Given the description of an element on the screen output the (x, y) to click on. 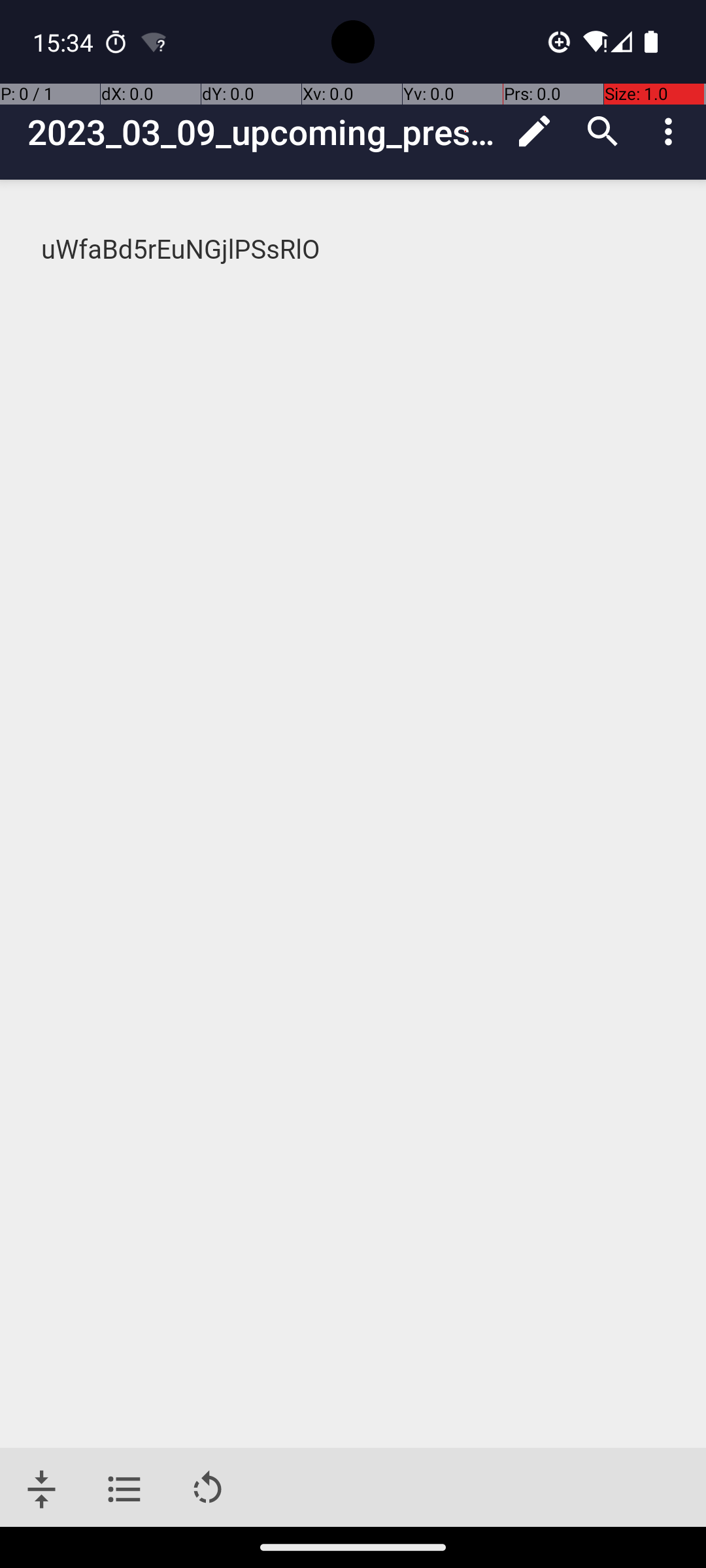
2023_03_09_upcoming_presentation_outline Element type: android.widget.TextView (263, 131)
uWfaBd5rEuNGjlPSsRlO Element type: android.widget.TextView (354, 249)
